Given the description of an element on the screen output the (x, y) to click on. 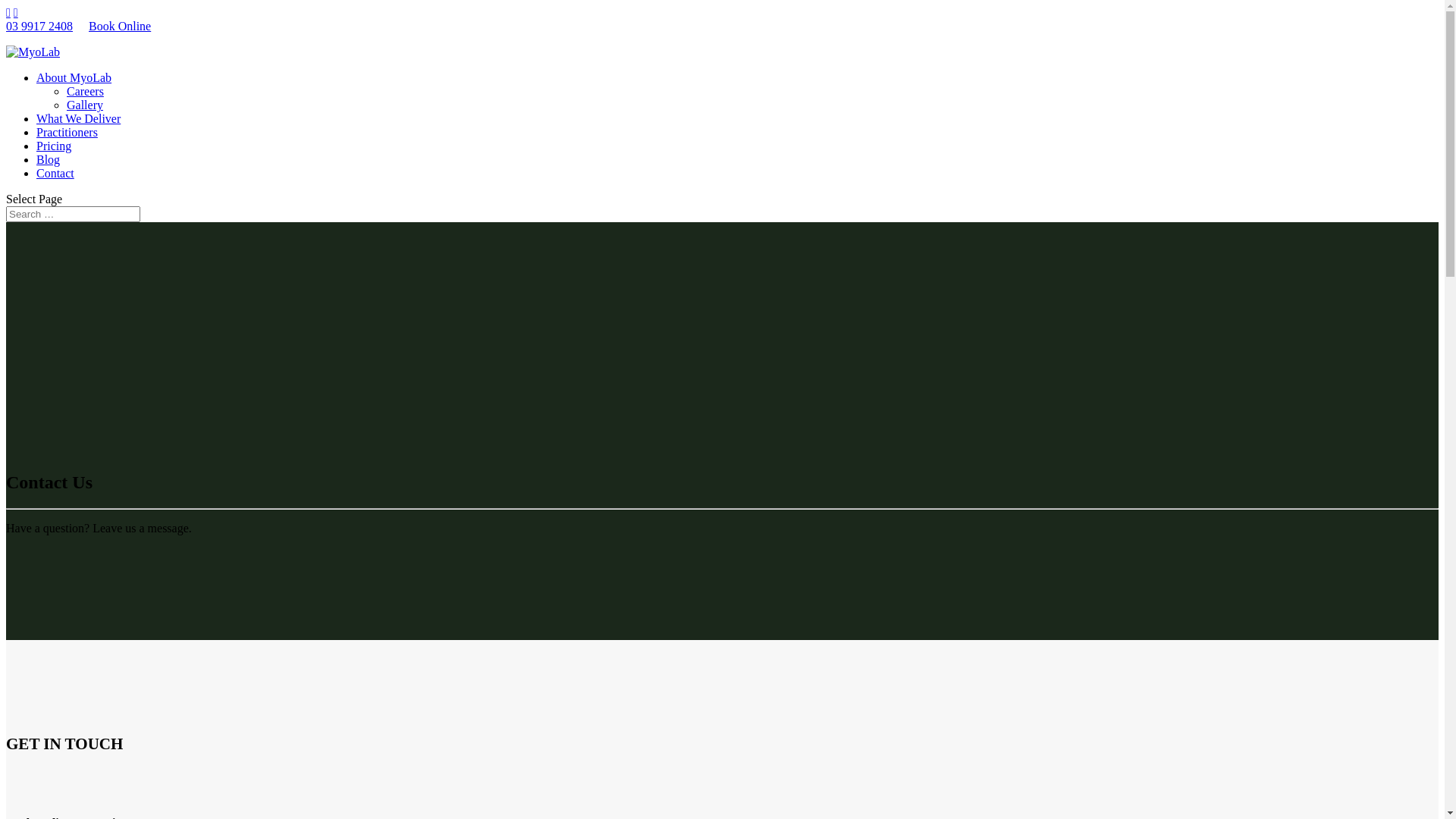
Pricing Element type: text (53, 145)
Blog Element type: text (47, 159)
What We Deliver Element type: text (78, 118)
Book Online Element type: text (119, 25)
Practitioners Element type: text (66, 131)
Careers Element type: text (84, 90)
Search for: Element type: hover (73, 214)
Gallery Element type: text (84, 104)
03 9917 2408 Element type: text (39, 25)
About MyoLab Element type: text (73, 77)
Contact Element type: text (55, 172)
